Given the description of an element on the screen output the (x, y) to click on. 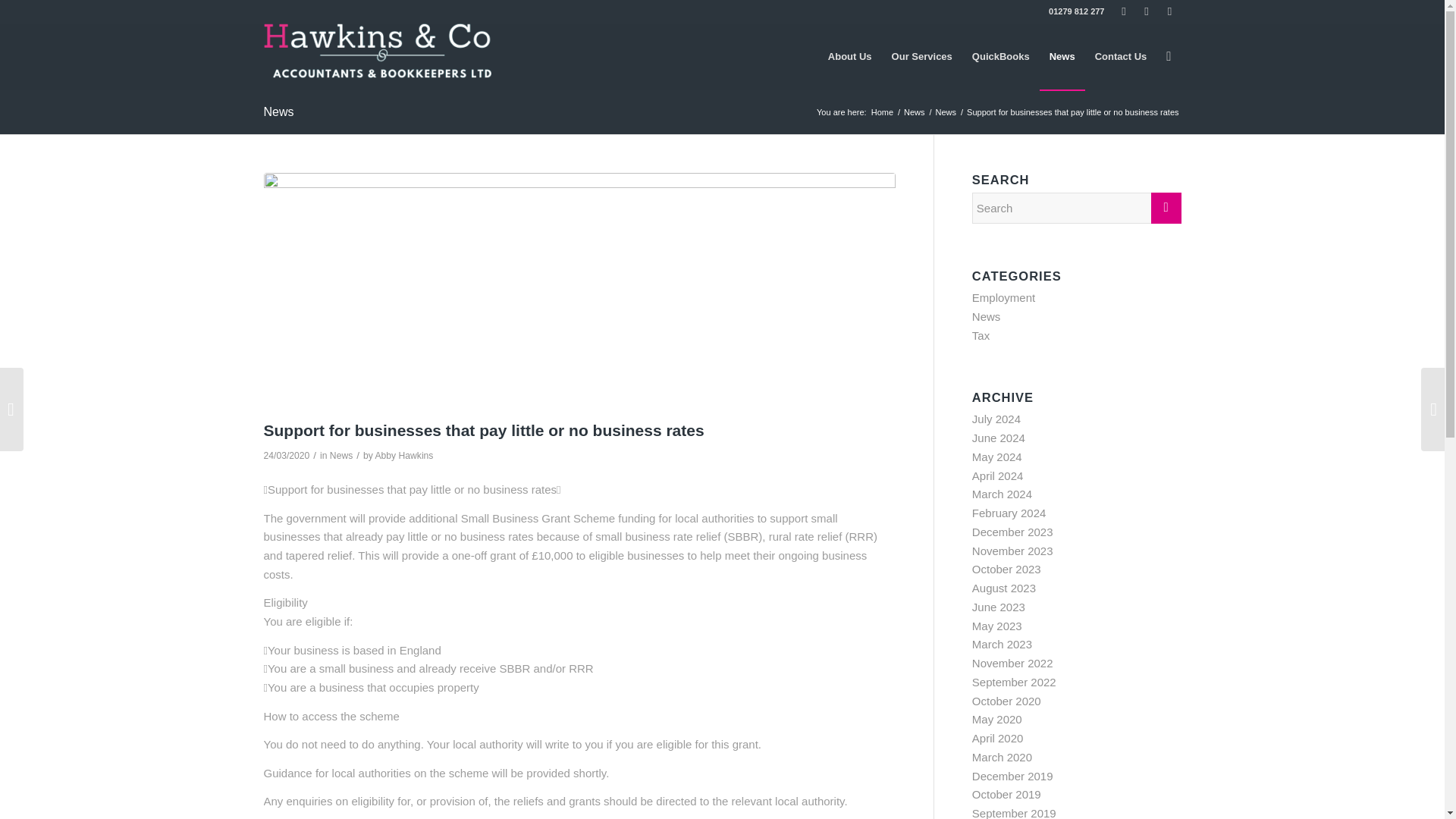
Employment (1003, 297)
November 2023 (1012, 550)
News (341, 455)
News (914, 112)
Facebook (1124, 11)
August 2023 (1003, 587)
March 2024 (1002, 493)
News (278, 111)
Tax (981, 335)
June 2024 (998, 437)
